Given the description of an element on the screen output the (x, y) to click on. 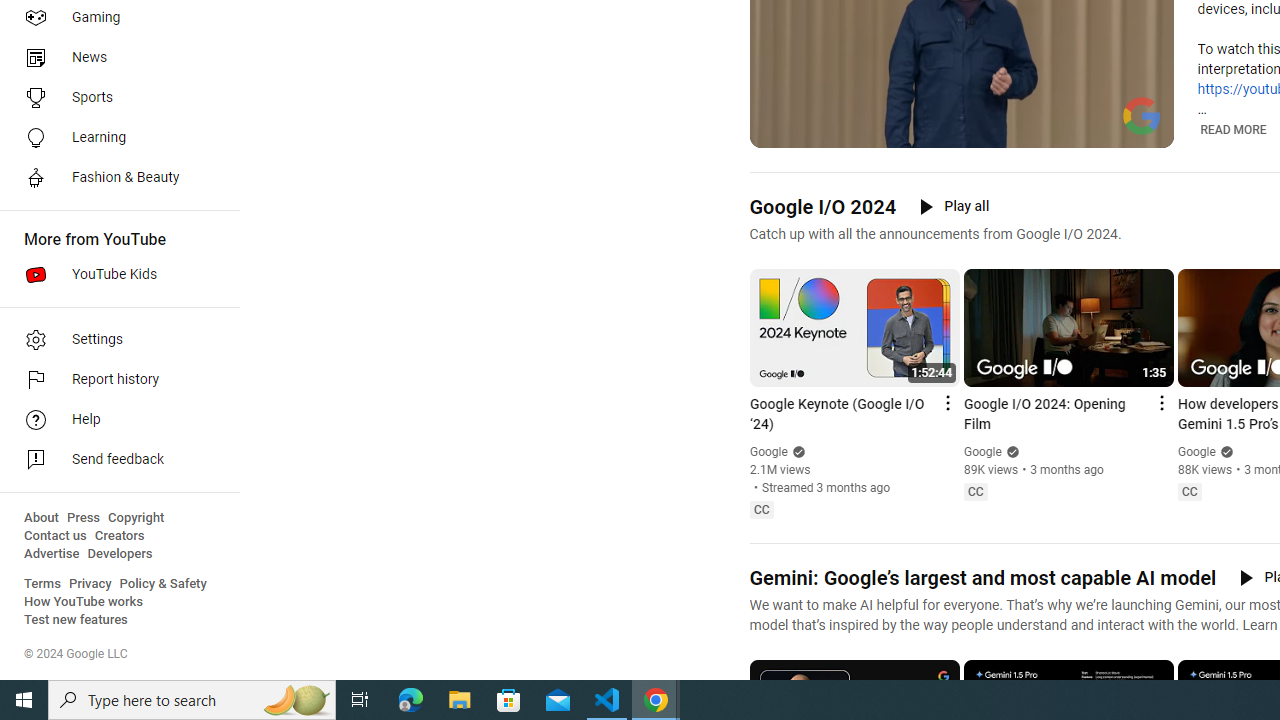
Pause (k) (779, 130)
Developers (120, 554)
Press (83, 518)
About (41, 518)
Policy & Safety (163, 584)
READ MORE (1233, 129)
READ MORE (1232, 129)
